Given the description of an element on the screen output the (x, y) to click on. 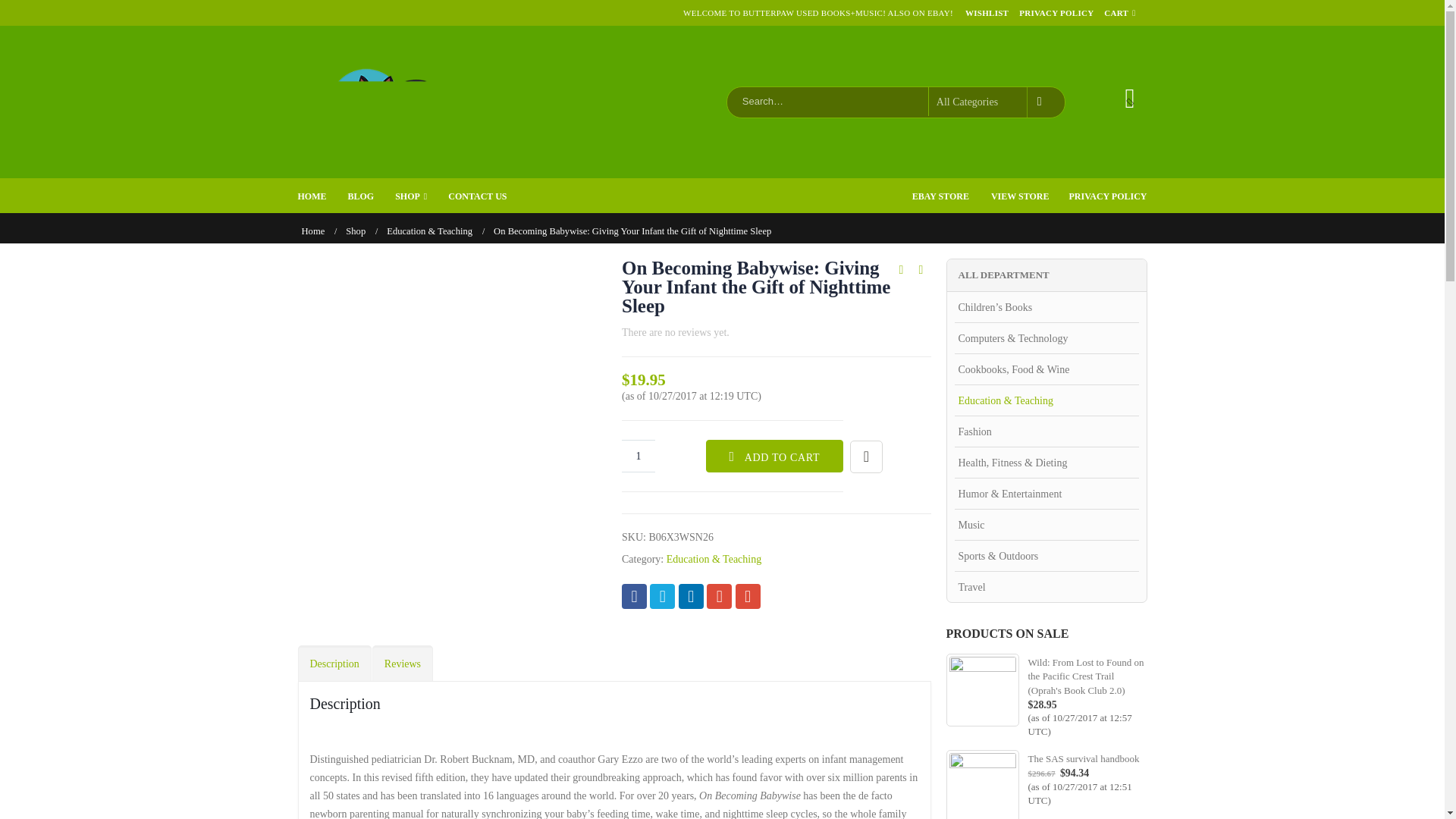
Facebook (633, 596)
Twitter (662, 596)
HOME (321, 195)
SHOP (420, 195)
Home (312, 230)
CONTACT US (486, 195)
Search (1042, 101)
There are no reviews yet. (675, 332)
Shop (355, 230)
1 (638, 455)
Facebook (633, 596)
Qty (638, 455)
CART (1117, 12)
Twitter (662, 596)
VIEW STORE (1010, 195)
